Given the description of an element on the screen output the (x, y) to click on. 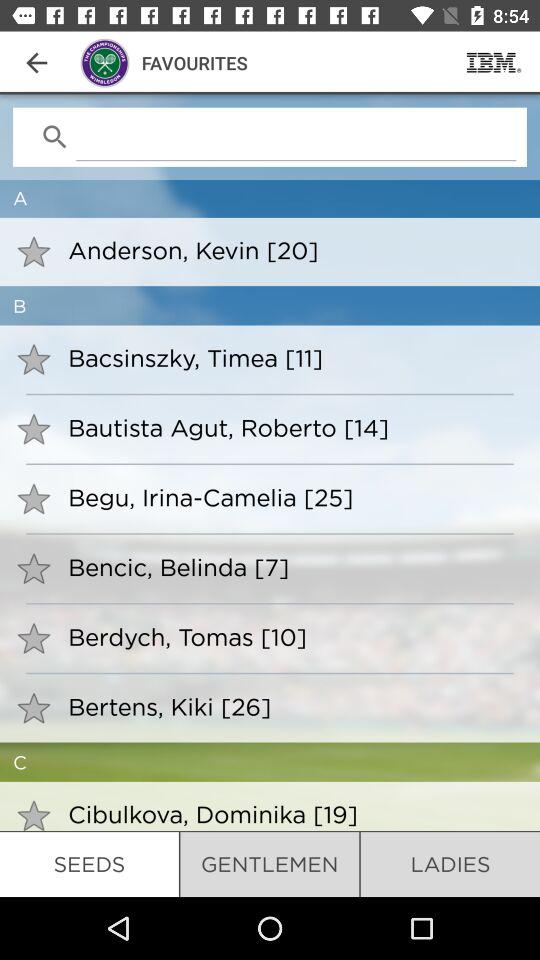
click the item next to gentlemen icon (450, 863)
